Given the description of an element on the screen output the (x, y) to click on. 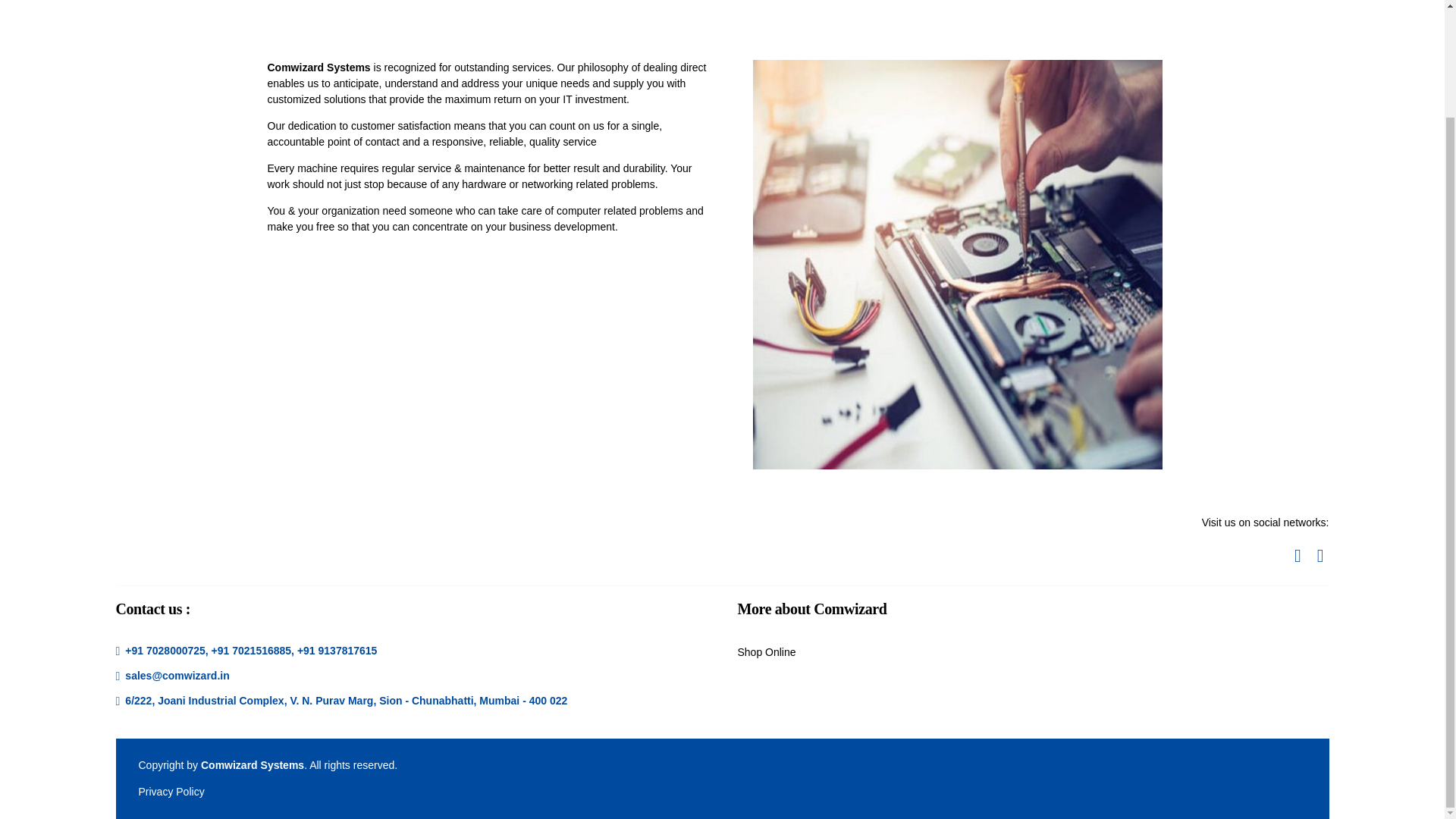
Shop Online (765, 652)
Privacy Policy (170, 791)
